Given the description of an element on the screen output the (x, y) to click on. 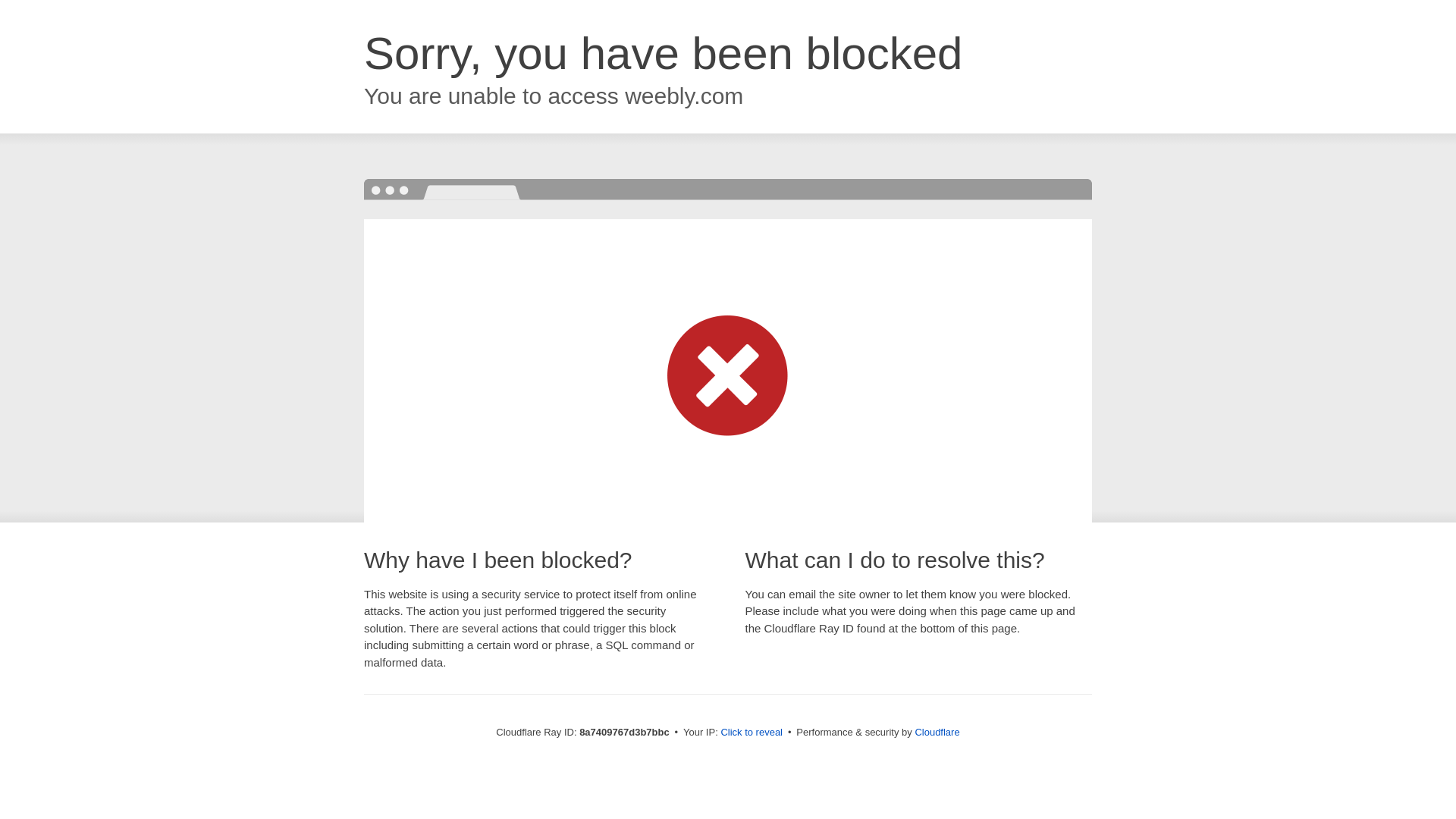
Click to reveal (751, 732)
Cloudflare (936, 731)
